Given the description of an element on the screen output the (x, y) to click on. 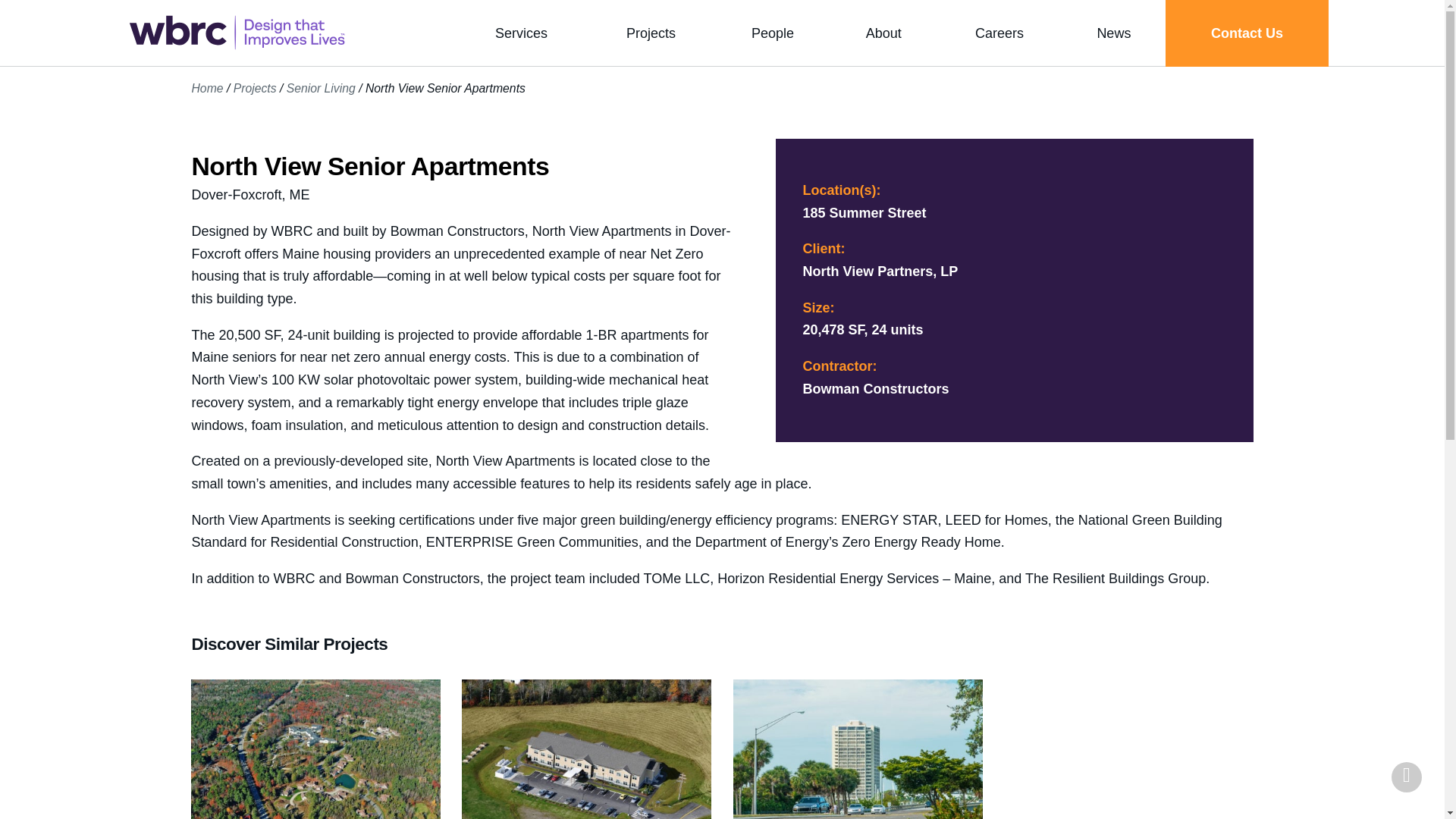
Services (520, 33)
Services (520, 33)
WBRC Inc. (236, 33)
Projects (651, 33)
Projects (651, 33)
People (771, 33)
About (883, 33)
